Given the description of an element on the screen output the (x, y) to click on. 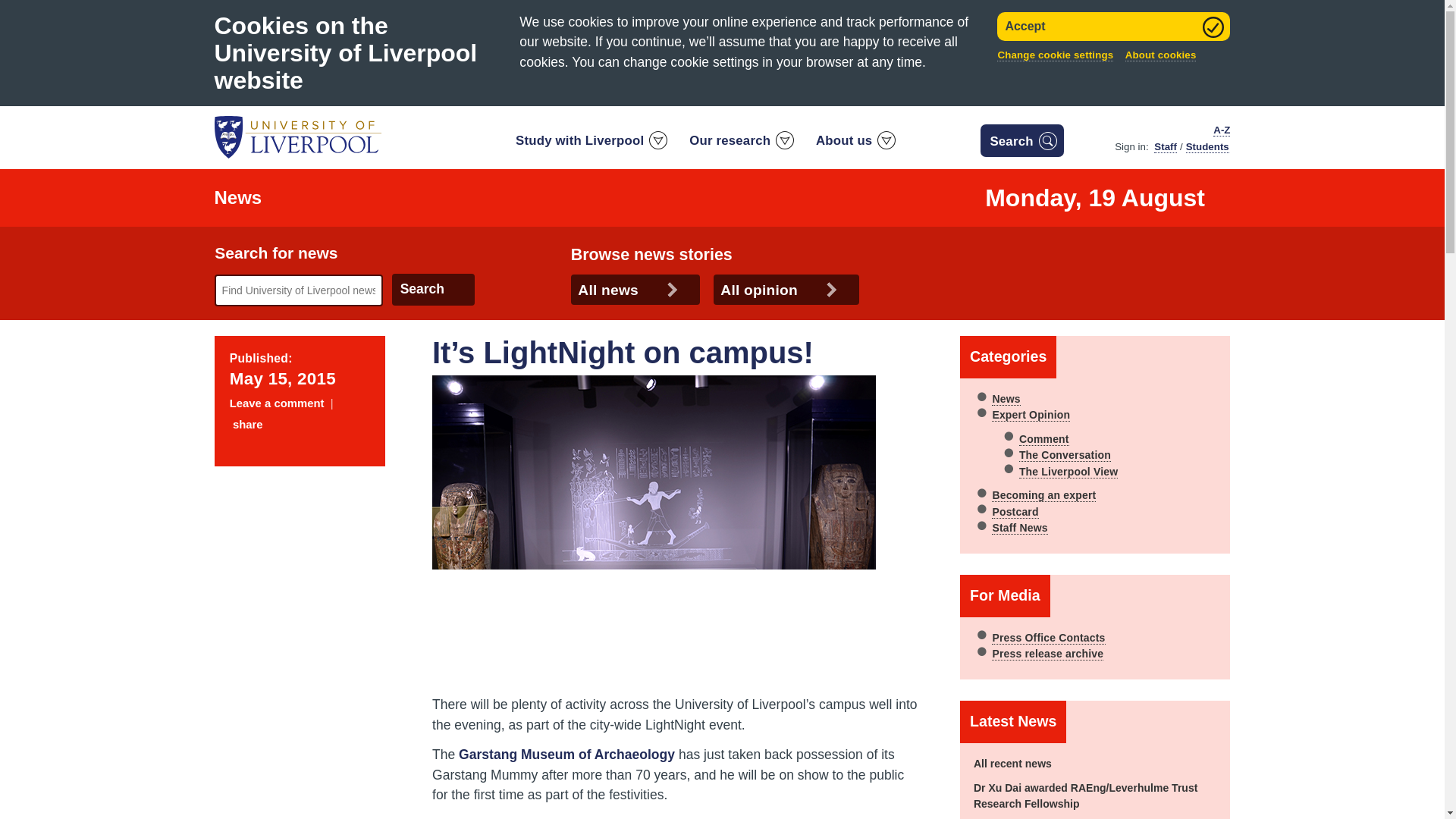
Accept (1113, 26)
University of Liverpool Home (297, 136)
Search (432, 289)
University of Liverpool Logo (297, 137)
